Given the description of an element on the screen output the (x, y) to click on. 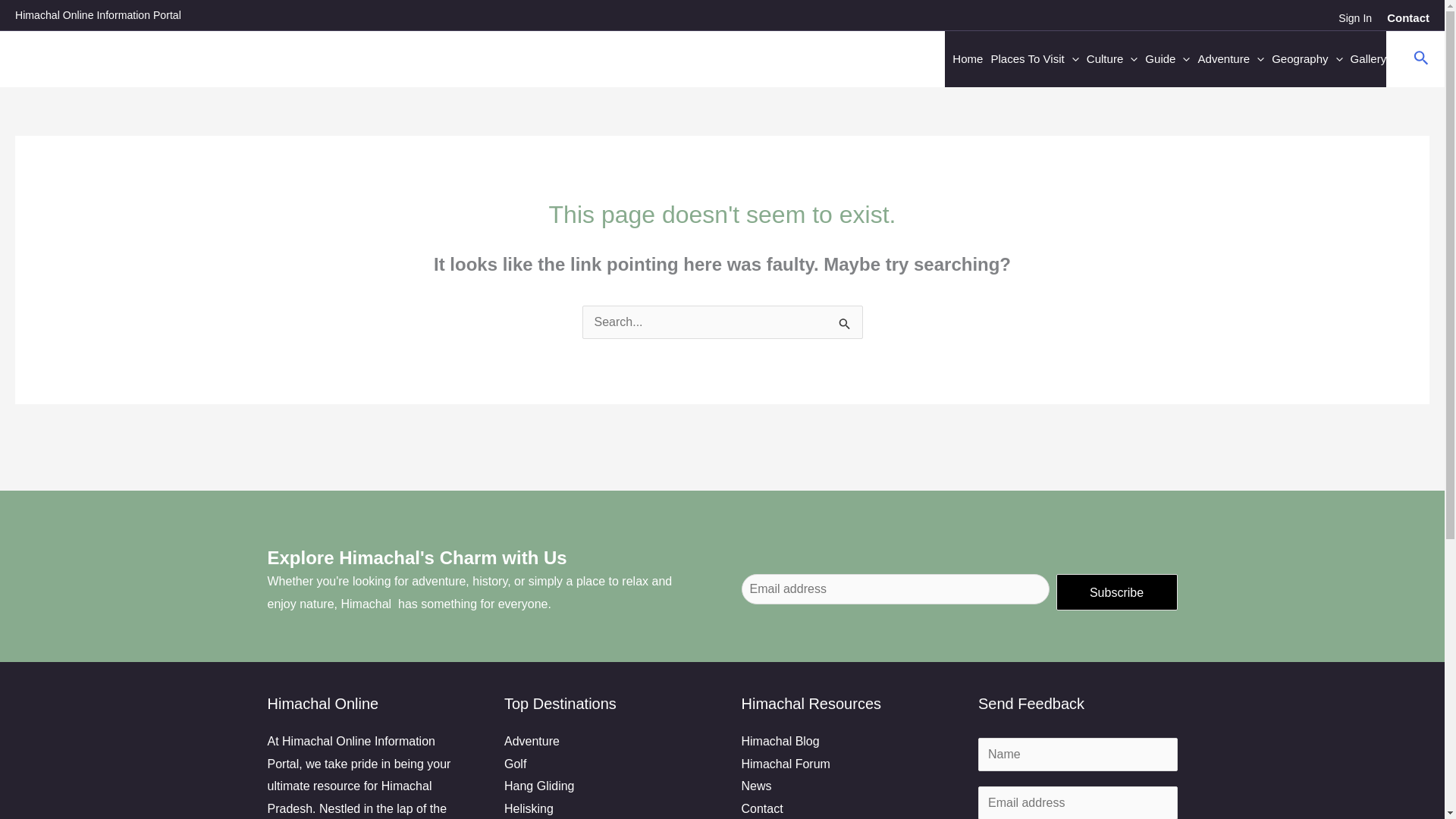
Places To Visit (1030, 58)
Sign In (1354, 17)
Culture (1108, 58)
Contact (1408, 17)
Himachal Online (112, 58)
